Given the description of an element on the screen output the (x, y) to click on. 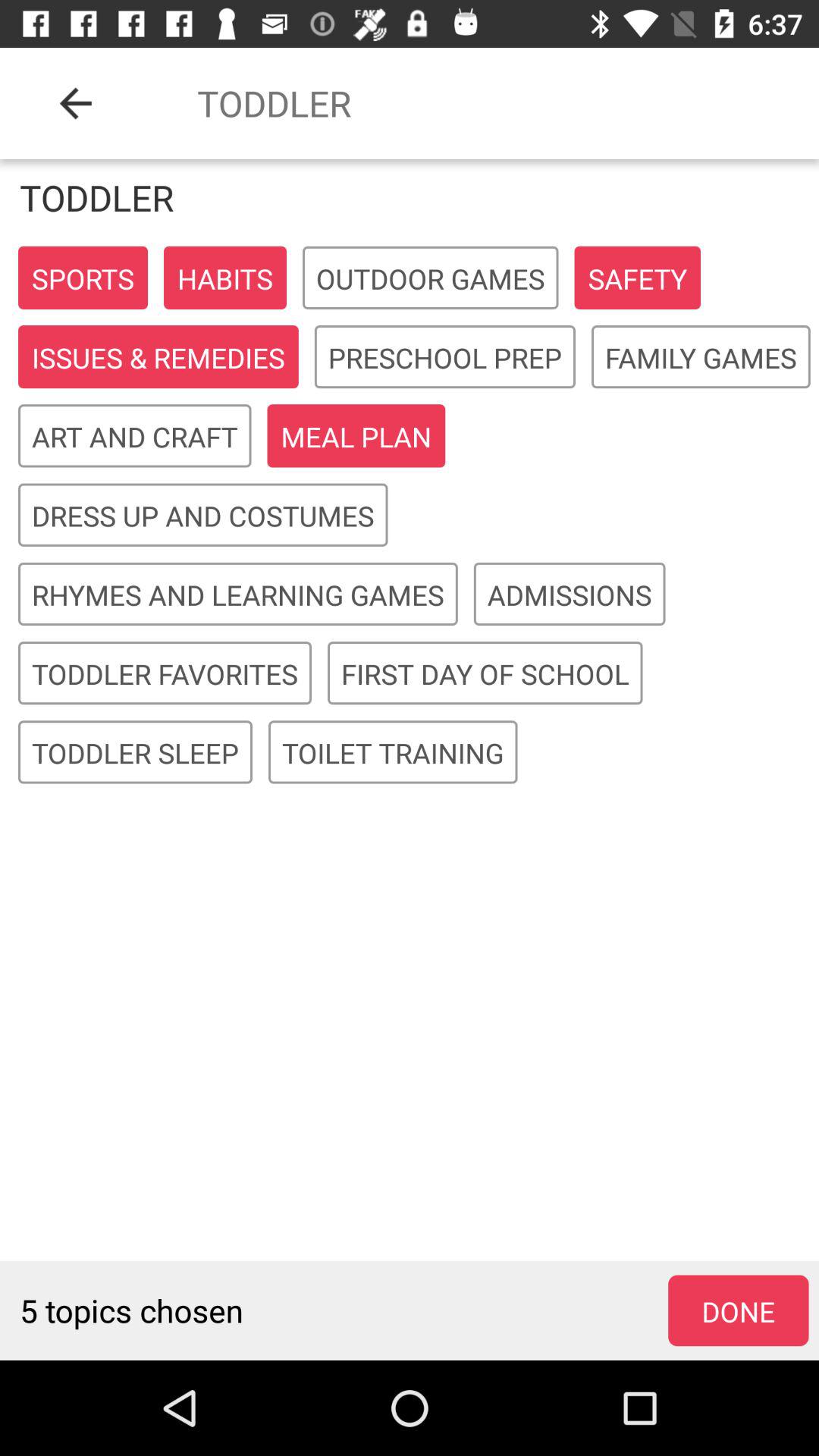
open item above the toddler sleep (164, 673)
